Given the description of an element on the screen output the (x, y) to click on. 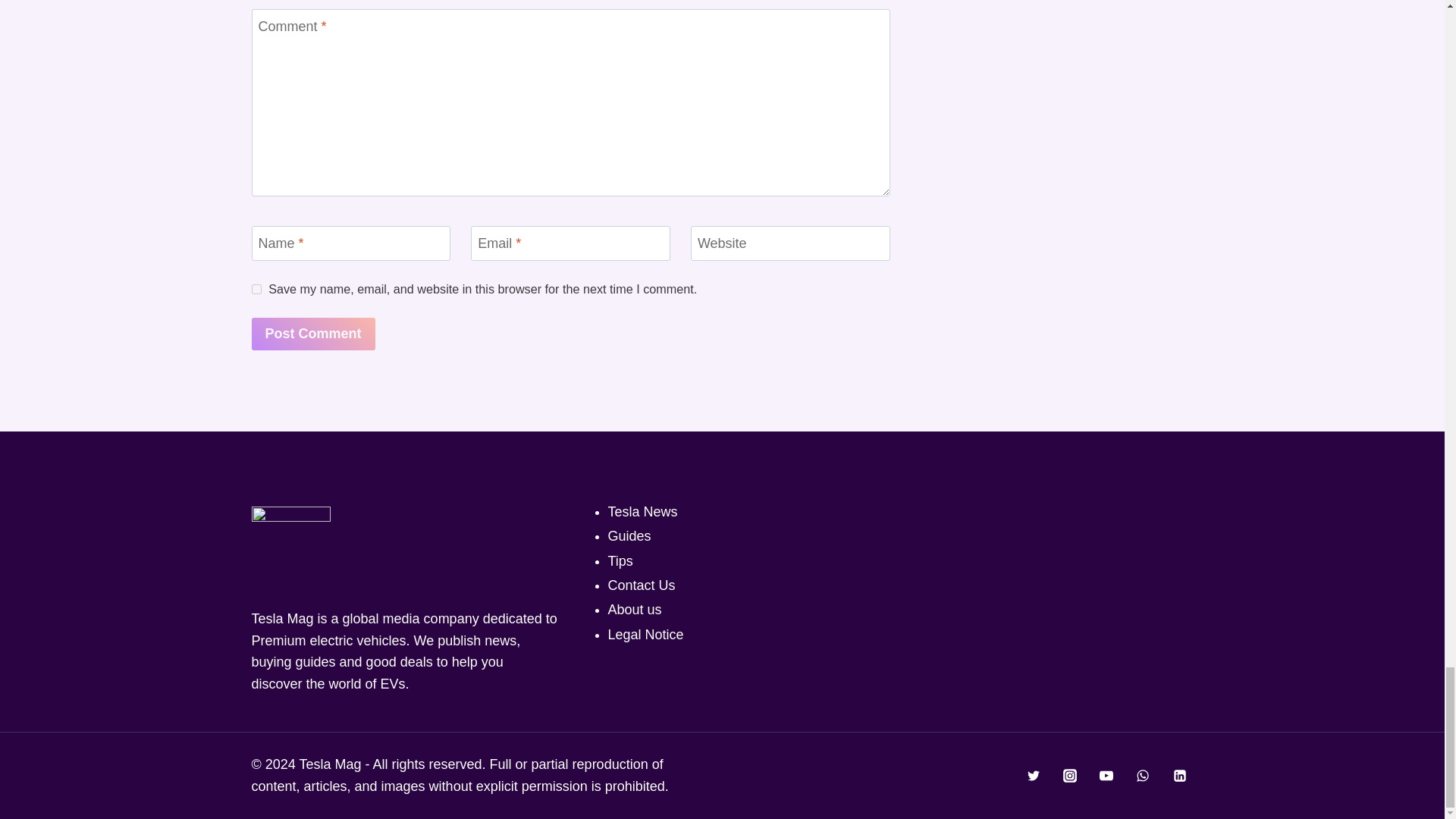
yes (256, 289)
Post Comment (313, 333)
Post Comment (313, 333)
